Given the description of an element on the screen output the (x, y) to click on. 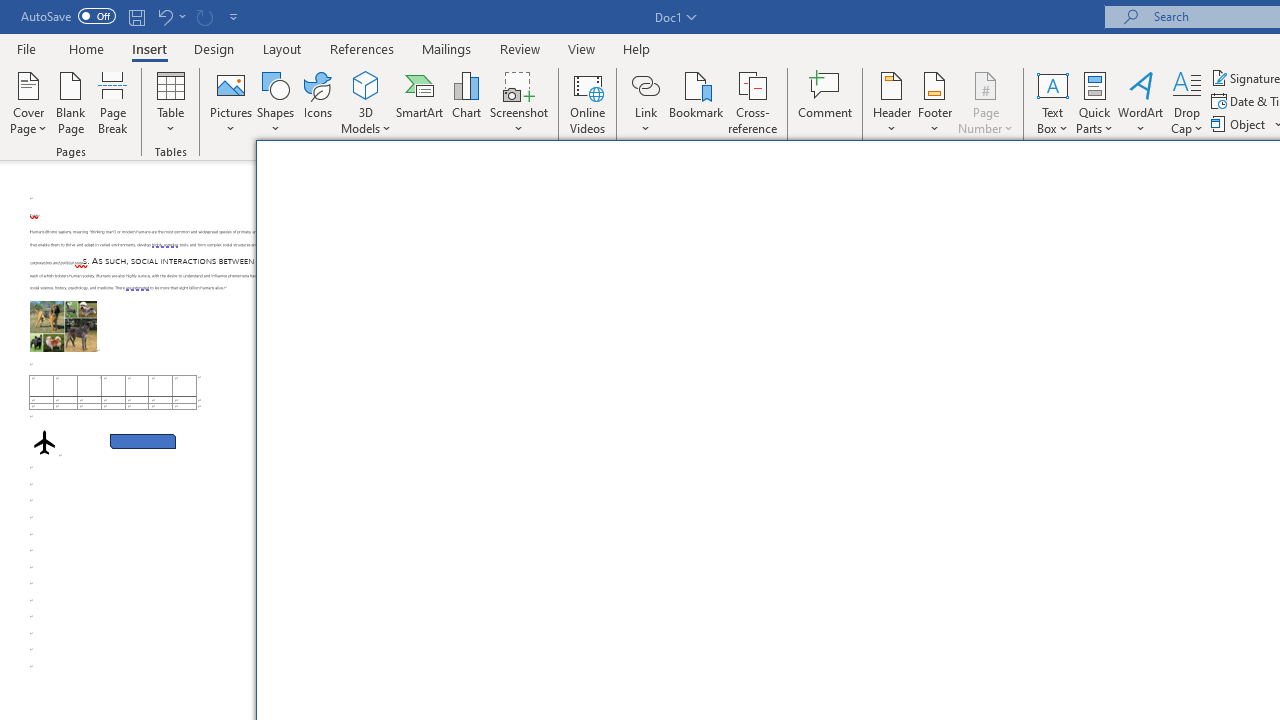
Undo Apply Quick Style Set (170, 15)
Drop Cap (1187, 102)
Footer (934, 102)
Stickers (573, 258)
Can't Repeat (204, 15)
Blank Page (70, 102)
WordArt (1141, 102)
Cartoon People (775, 258)
Morphological variation in six dogs (63, 326)
Images (322, 258)
